Given the description of an element on the screen output the (x, y) to click on. 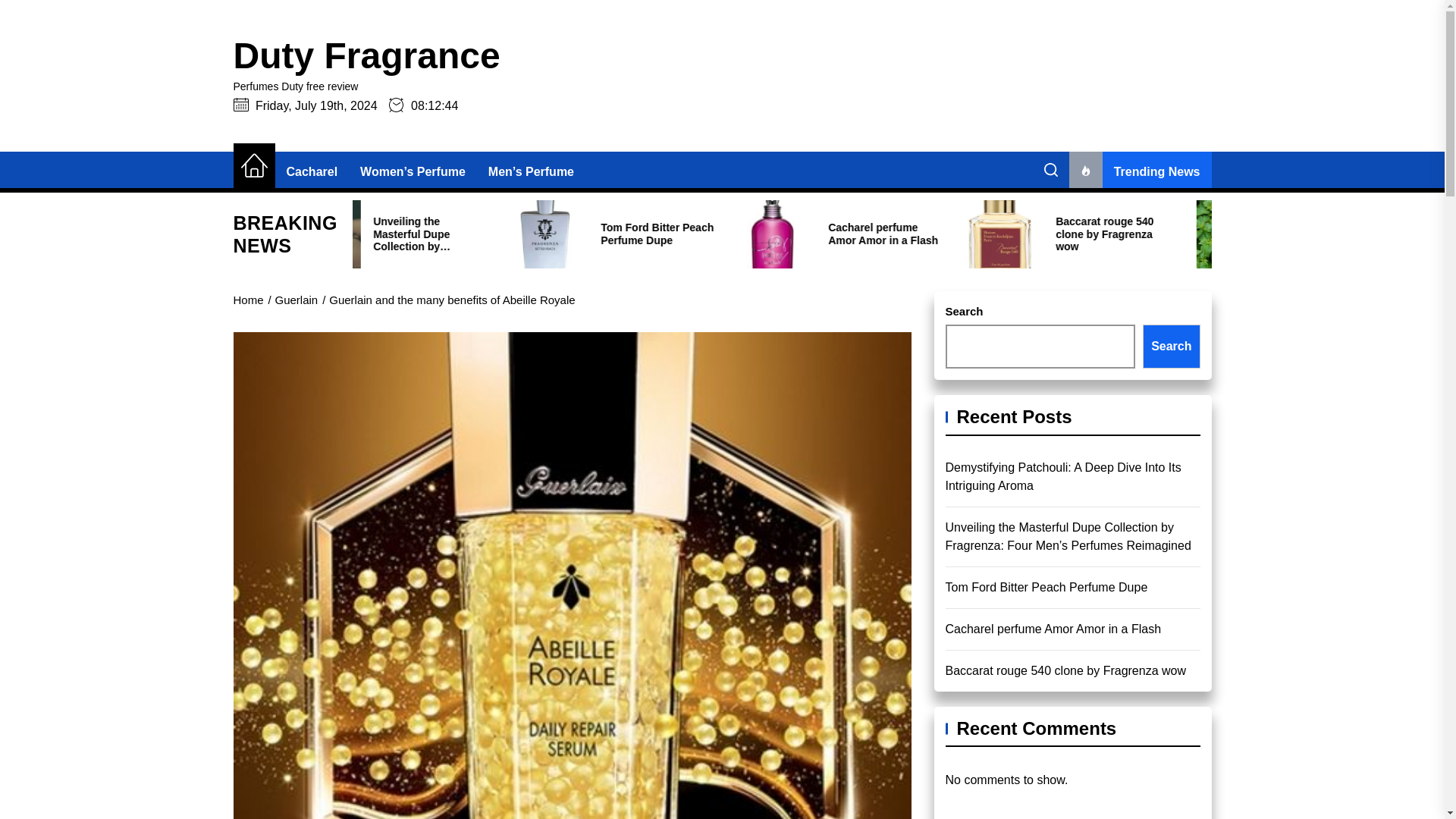
Trending News (1139, 171)
Cacharel (312, 171)
Home (253, 165)
Tom Ford Bitter Peach Perfume Dupe (796, 233)
Duty Fragrance (366, 55)
